Given the description of an element on the screen output the (x, y) to click on. 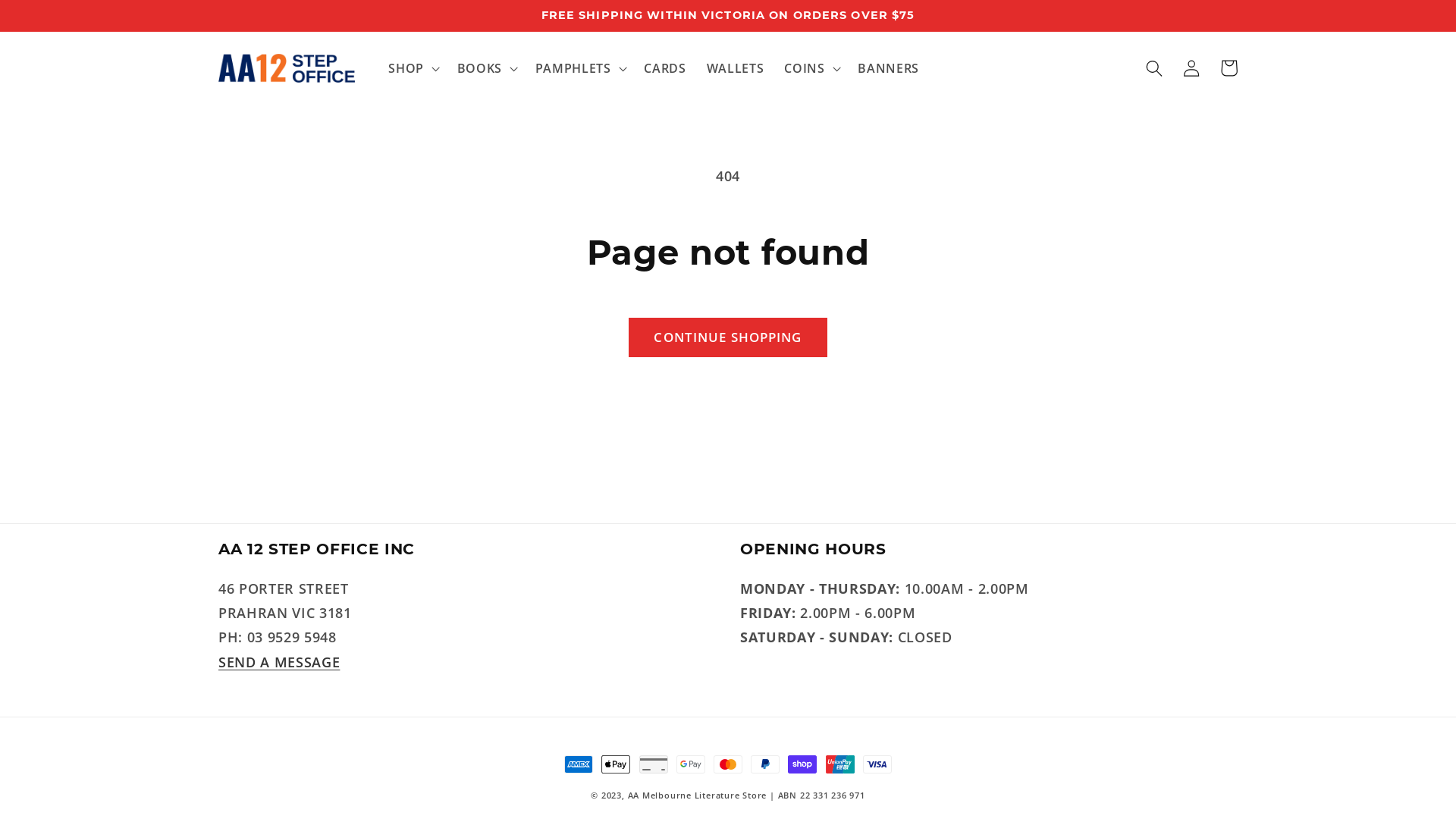
CARDS Element type: text (664, 67)
CONTINUE SHOPPING Element type: text (727, 337)
BANNERS Element type: text (888, 67)
WALLETS Element type: text (735, 67)
Cart Element type: text (1228, 67)
| ABN 22 331 236 971 Element type: text (817, 794)
AA Melbourne Literature Store Element type: text (697, 794)
Log in Element type: text (1191, 67)
SEND A MESSAGE Element type: text (278, 661)
